Given the description of an element on the screen output the (x, y) to click on. 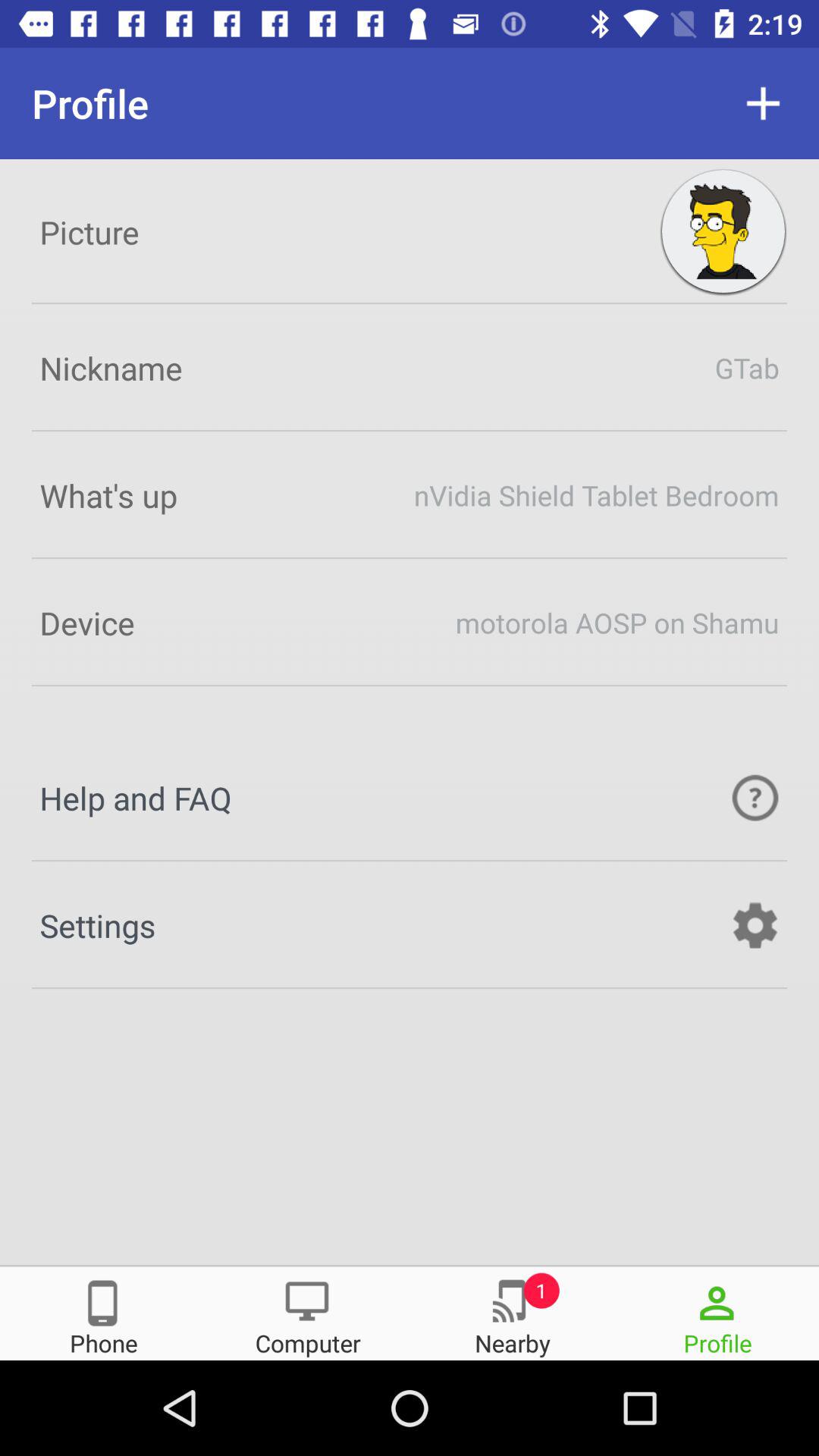
launch item next to the picture icon (723, 231)
